Given the description of an element on the screen output the (x, y) to click on. 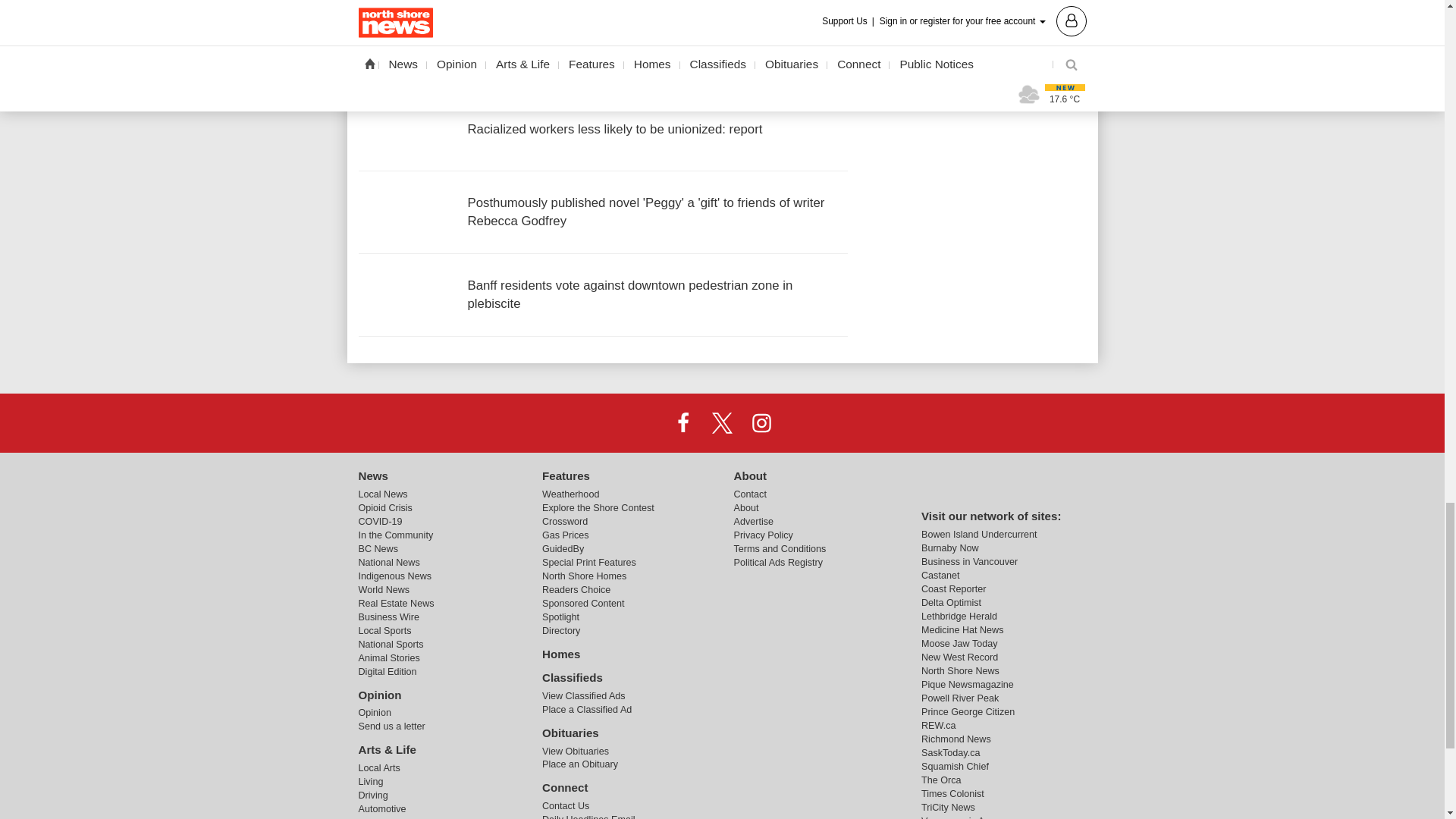
Facebook (683, 422)
Instagram (760, 422)
X (721, 422)
